Given the description of an element on the screen output the (x, y) to click on. 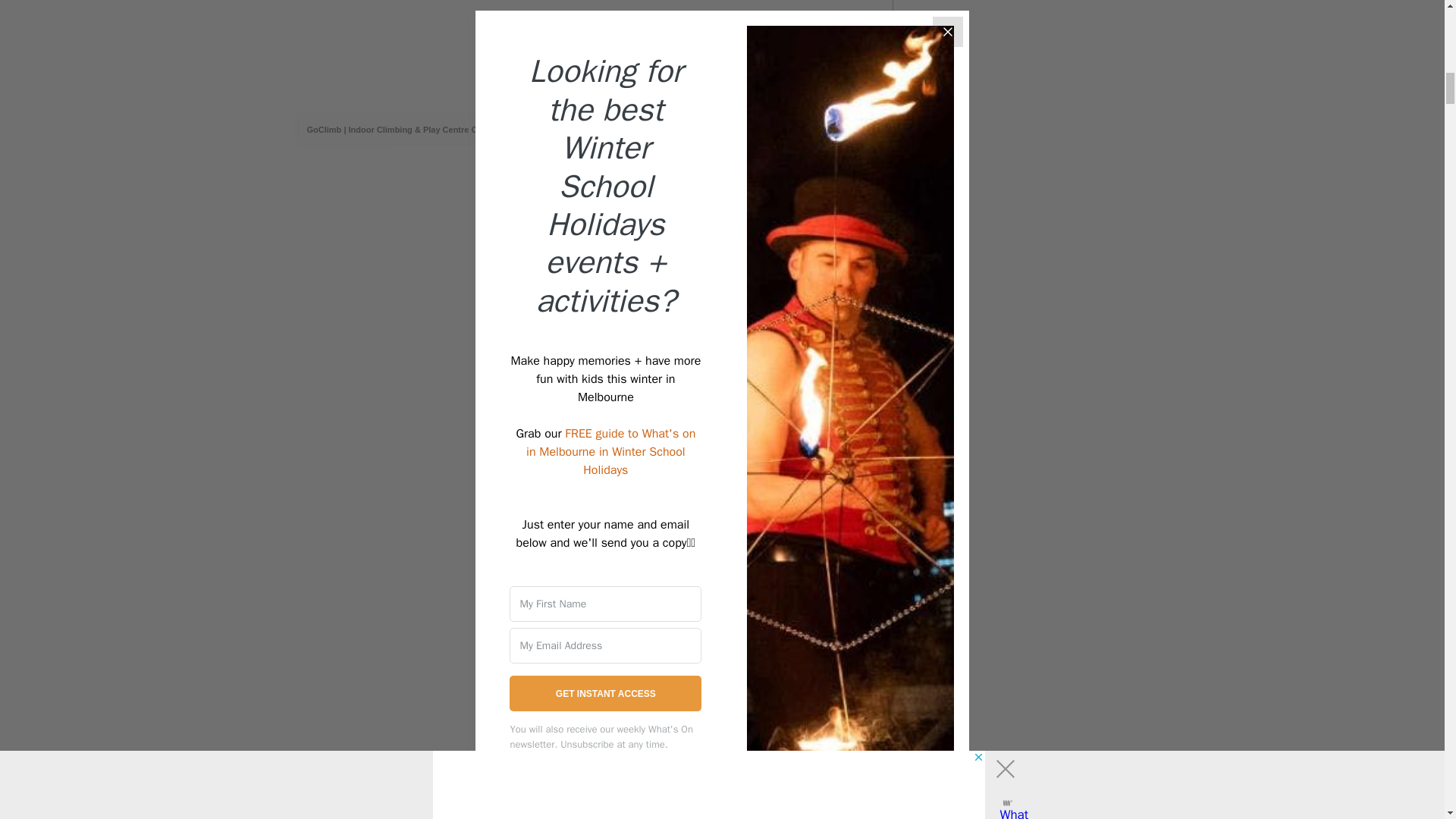
HOT: GoClimb, Coburg 2 (579, 48)
